Given the description of an element on the screen output the (x, y) to click on. 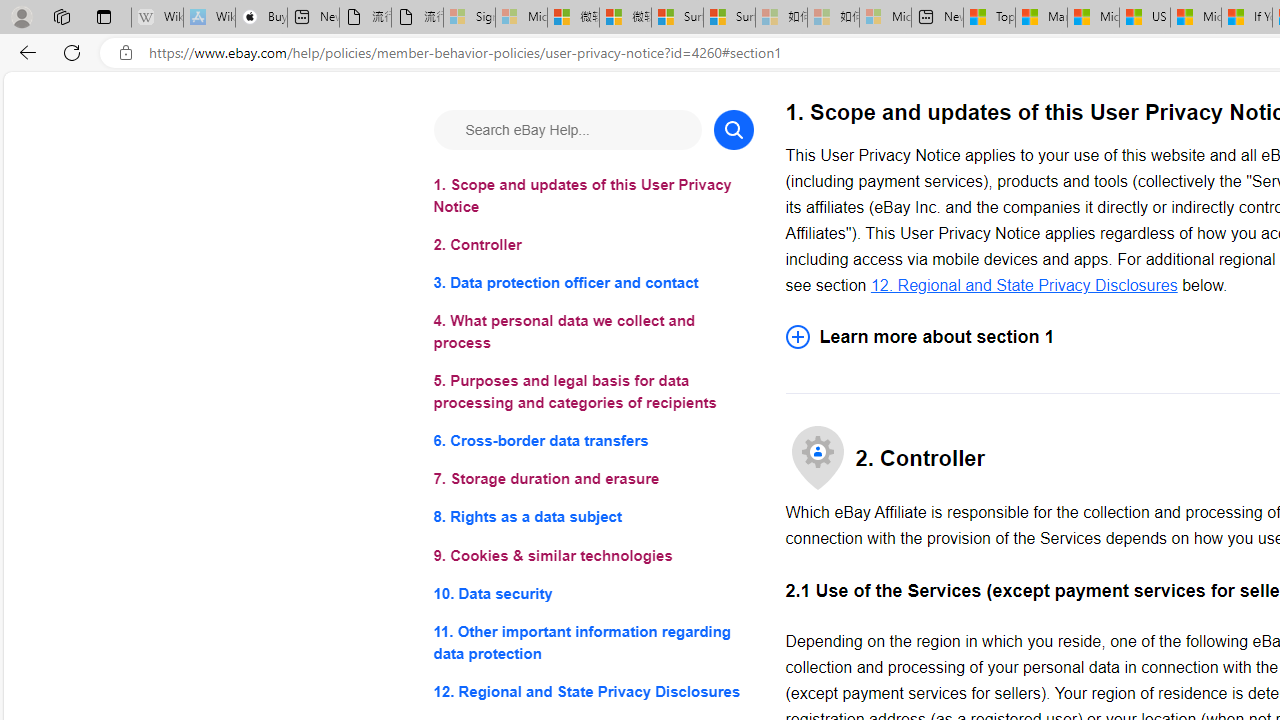
8. Rights as a data subject (592, 517)
10. Data security (592, 592)
12. Regional and State Privacy Disclosures (592, 690)
2. Controller (592, 245)
9. Cookies & similar technologies (592, 555)
4. What personal data we collect and process (592, 332)
